Given the description of an element on the screen output the (x, y) to click on. 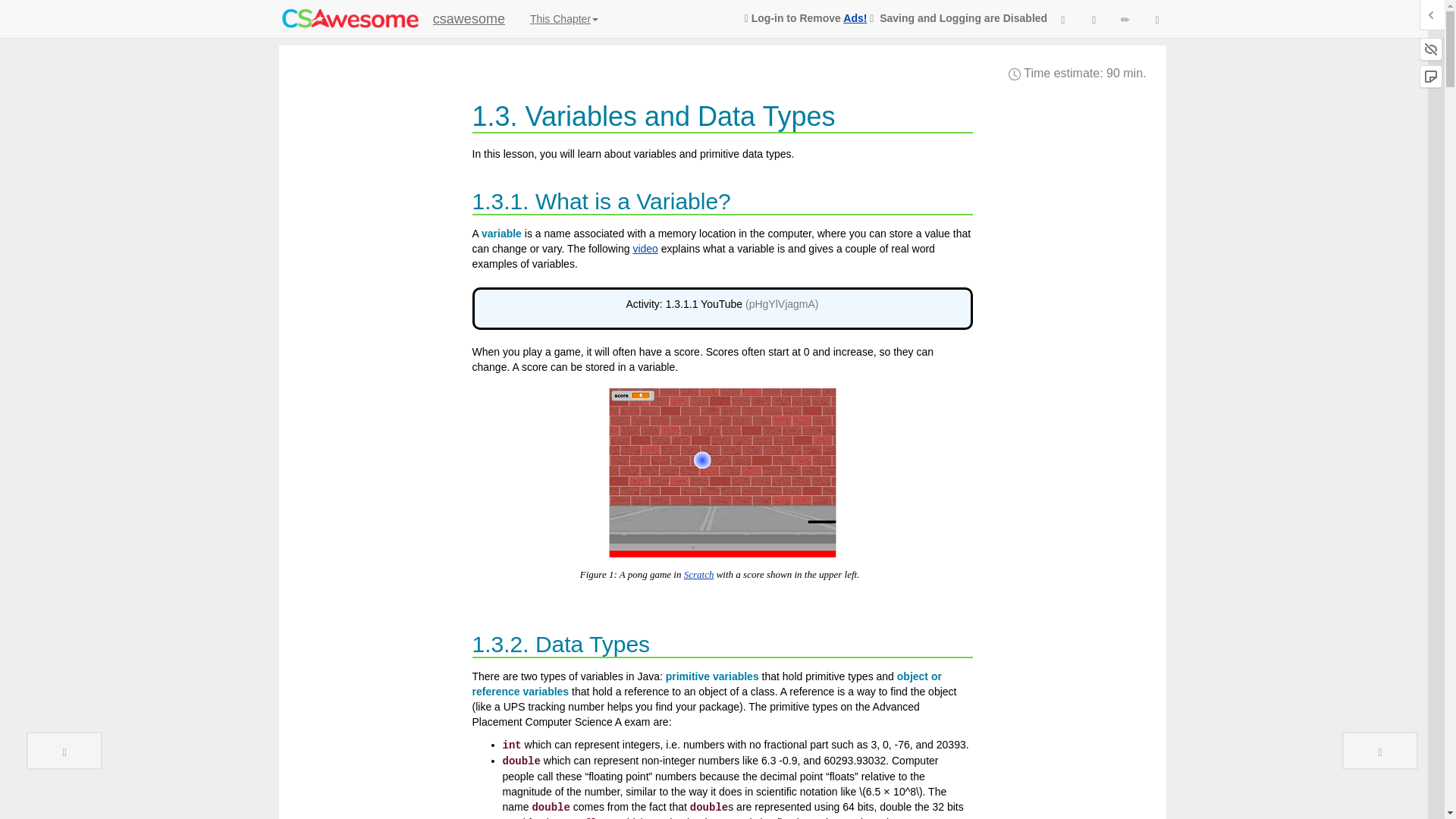
csawesome (469, 18)
Ads! (854, 18)
This Chapter (563, 18)
